Given the description of an element on the screen output the (x, y) to click on. 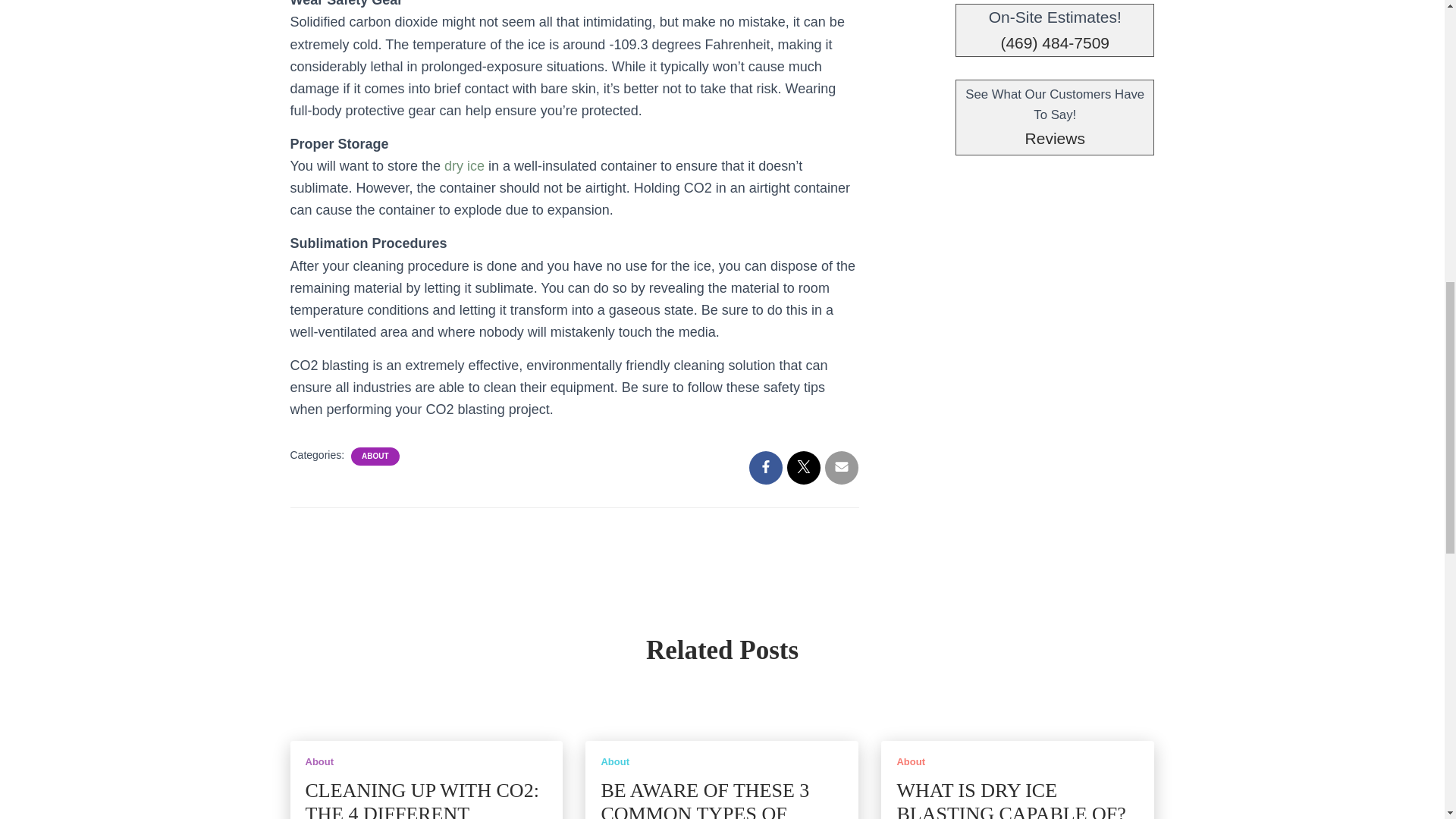
dry ice (464, 165)
ABOUT (374, 456)
